Given the description of an element on the screen output the (x, y) to click on. 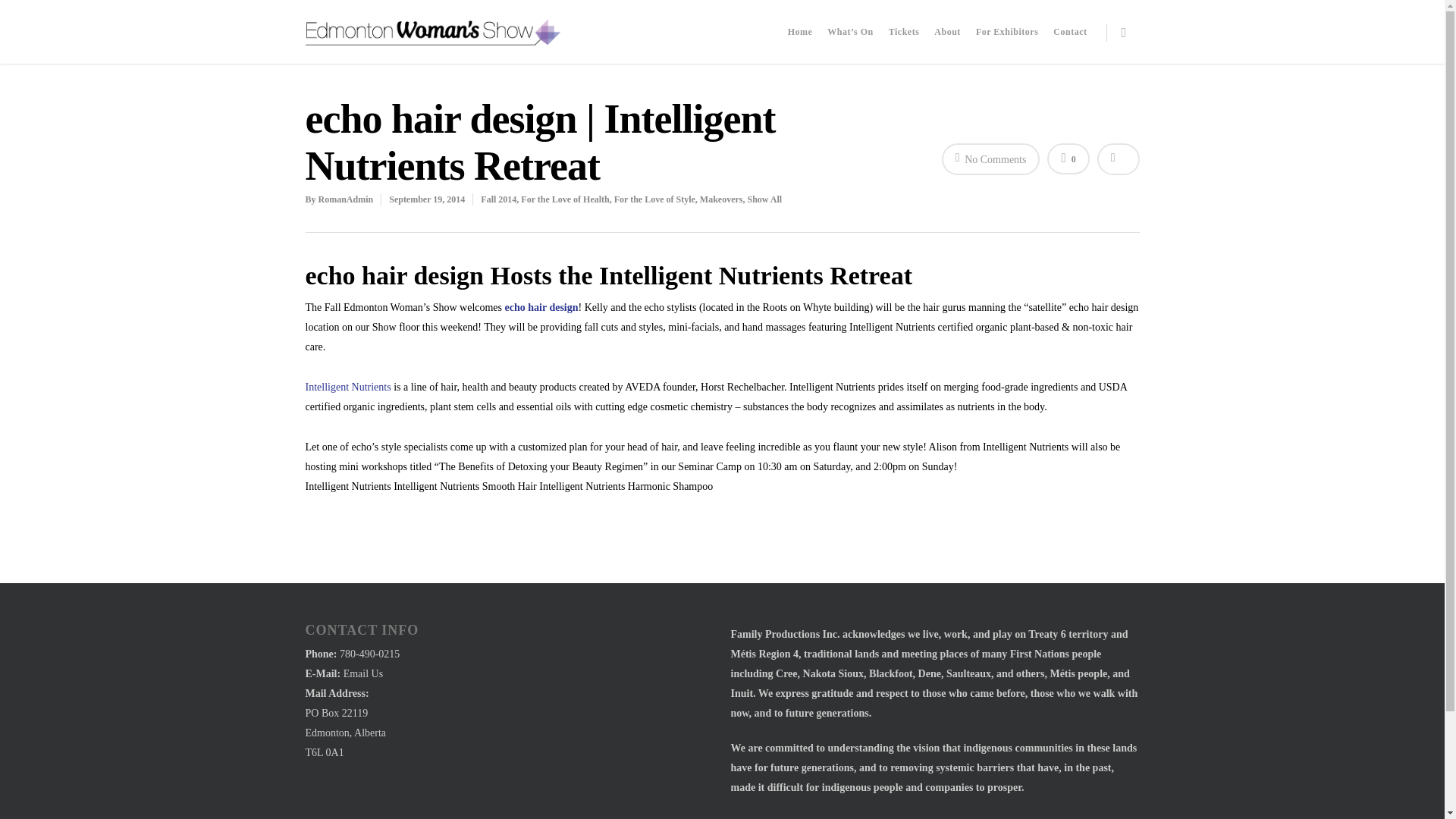
Email Us (363, 673)
Makeovers (721, 199)
Fall 2014 (498, 199)
Posts by RomanAdmin (346, 199)
0 (1067, 158)
echo hair design (541, 307)
Love this (1067, 158)
Intelligent Nutrients (348, 387)
RomanAdmin (346, 199)
For Exhibitors (1006, 39)
